Given the description of an element on the screen output the (x, y) to click on. 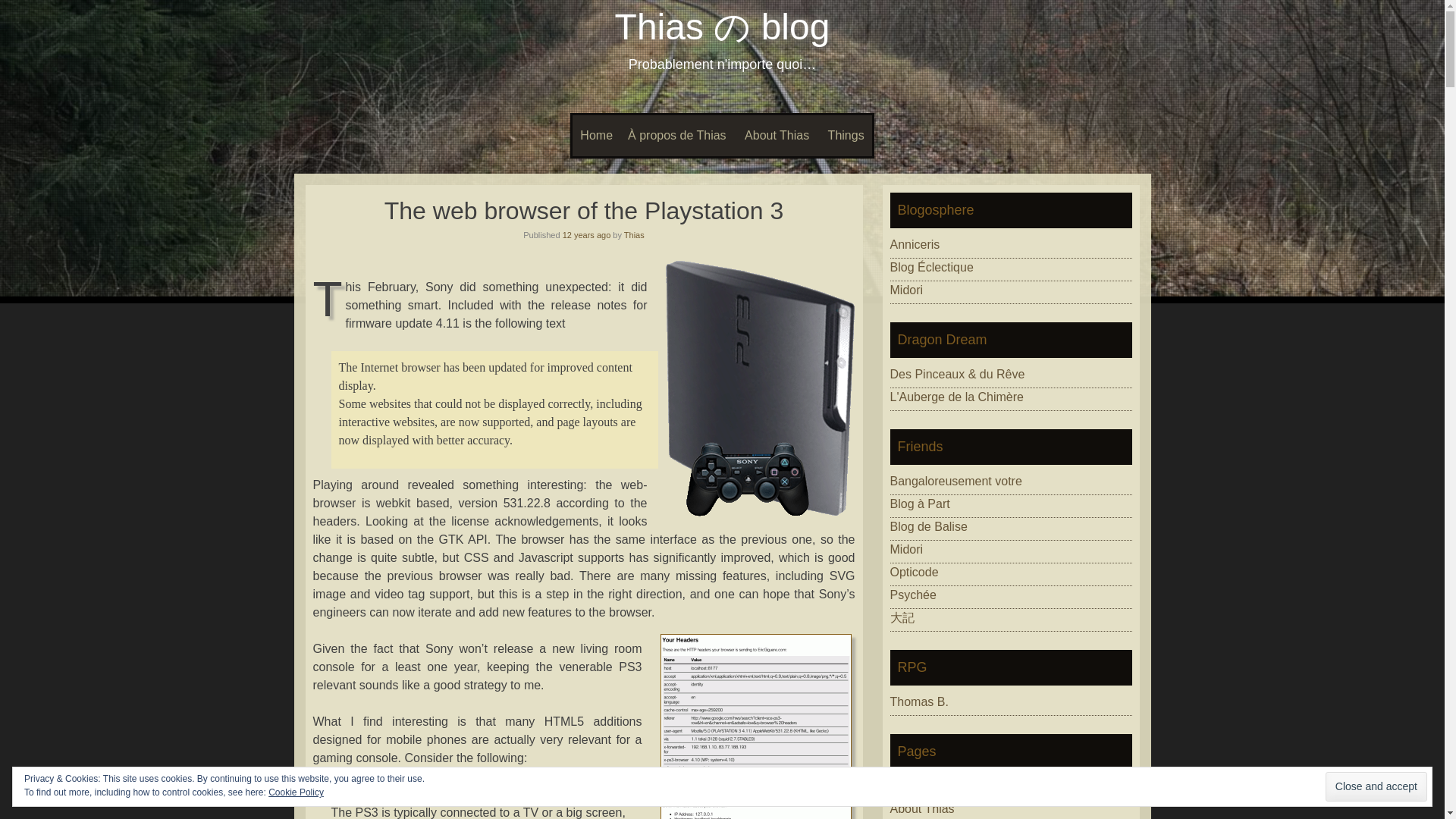
Playstation 3 Web Browser Headers (754, 726)
Aphrael (906, 549)
Thierry (955, 481)
Home (596, 135)
Close and accept (1375, 786)
About Thias (776, 135)
Aphrael (906, 289)
Things (846, 135)
